Given the description of an element on the screen output the (x, y) to click on. 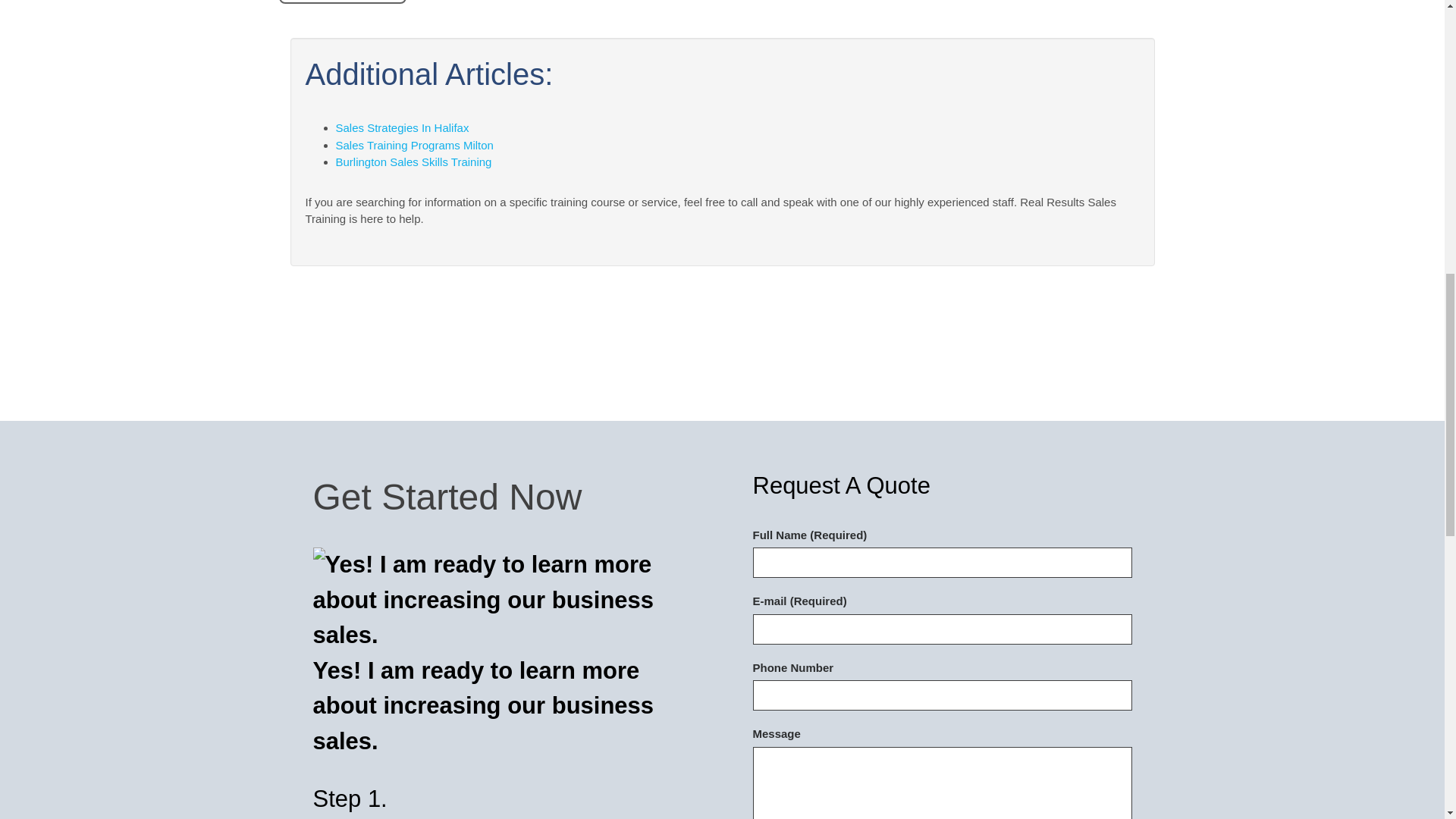
Sales Training Programs Milton (413, 144)
  REQUEST QUOTE   (343, 2)
Burlington Sales Skills Training (413, 161)
Sales Strategies In Halifax (401, 127)
Sales Training Programs Milton (413, 144)
Sales Strategies In Halifax (401, 127)
